Given the description of an element on the screen output the (x, y) to click on. 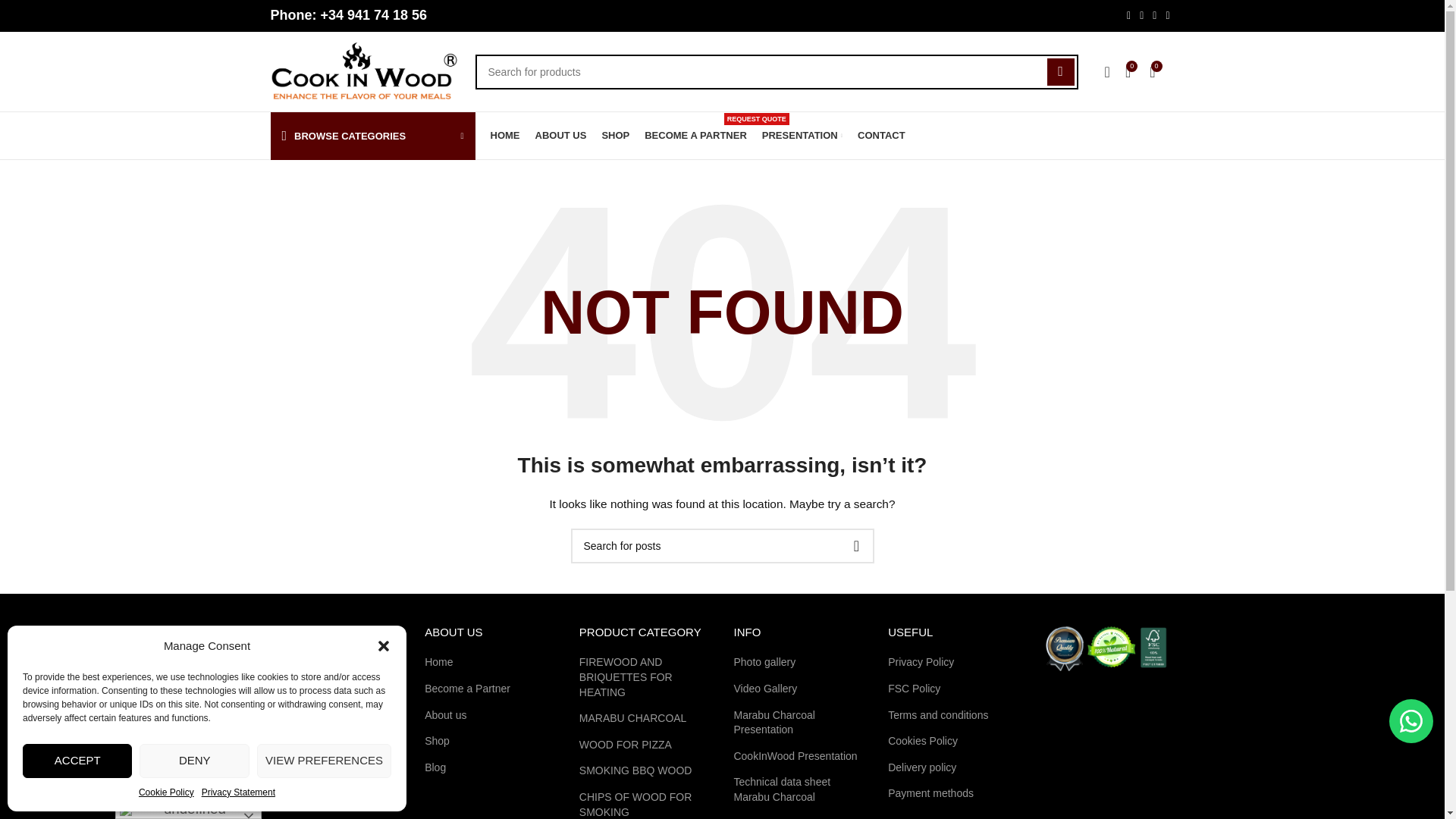
VIEW PREFERENCES (324, 760)
ACCEPT (77, 760)
My account (1107, 71)
undefined (188, 809)
SEARCH (1060, 71)
My Wishlist (1128, 71)
0 (1151, 71)
0 (1128, 71)
Cookie Policy (165, 792)
DENY (193, 760)
Privacy Statement (238, 792)
Shopping cart (1151, 71)
Search for products (775, 71)
